Given the description of an element on the screen output the (x, y) to click on. 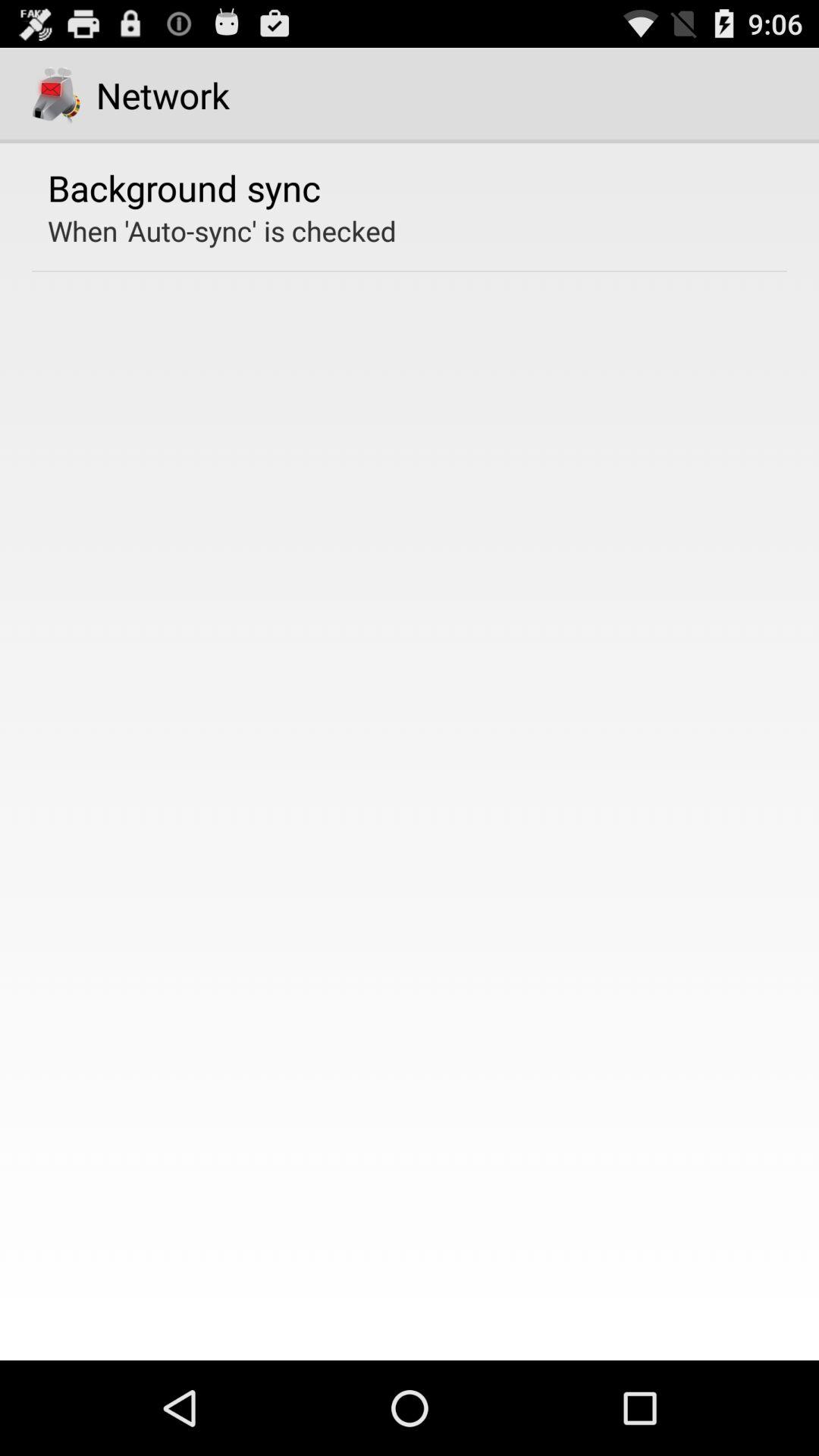
open the background sync (183, 187)
